Given the description of an element on the screen output the (x, y) to click on. 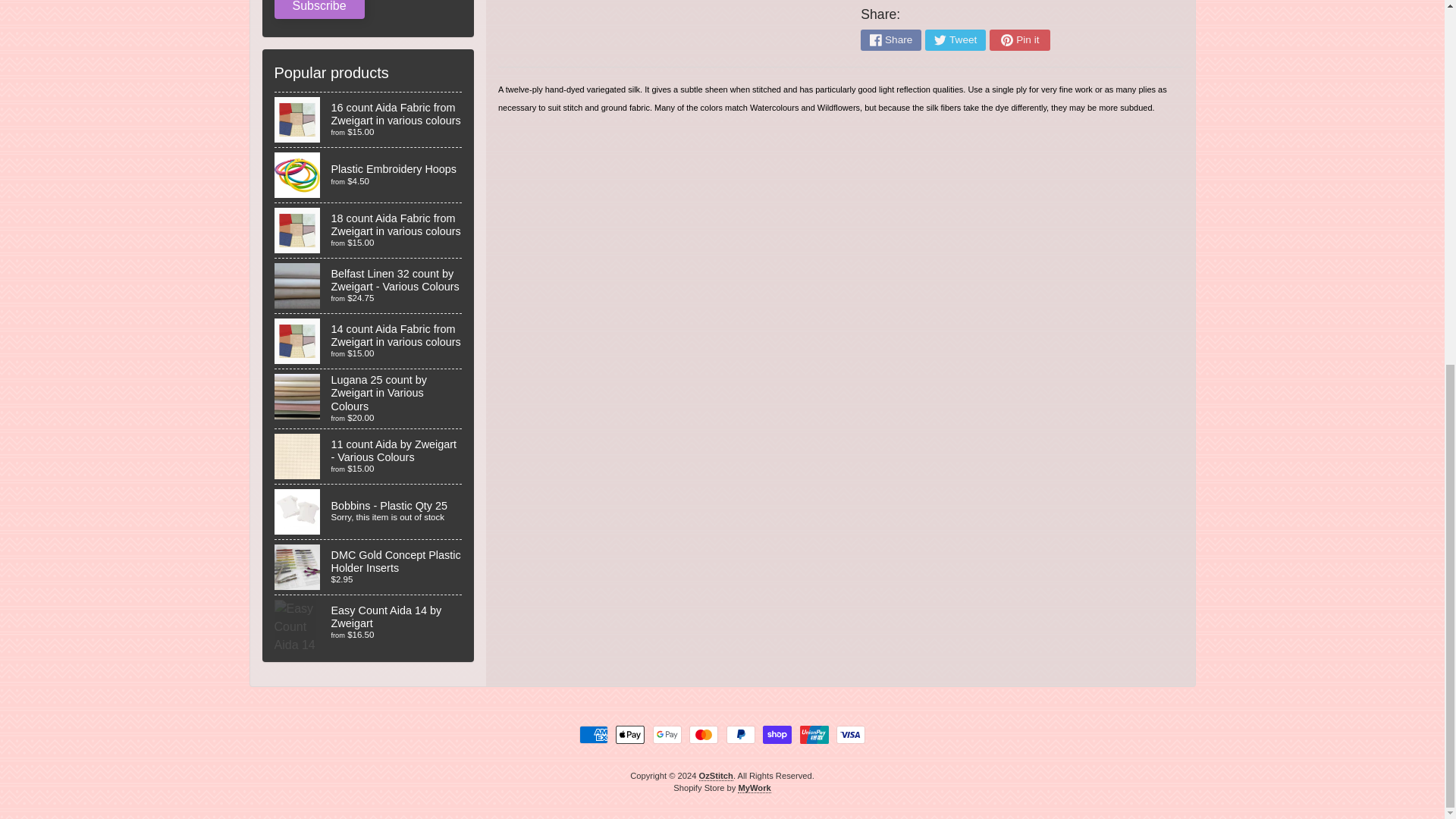
Shop Pay (777, 734)
Apple Pay (630, 734)
Mastercard (702, 734)
American Express (593, 734)
Google Pay (666, 734)
Union Pay (813, 734)
PayPal (740, 734)
Visa (849, 734)
